Given the description of an element on the screen output the (x, y) to click on. 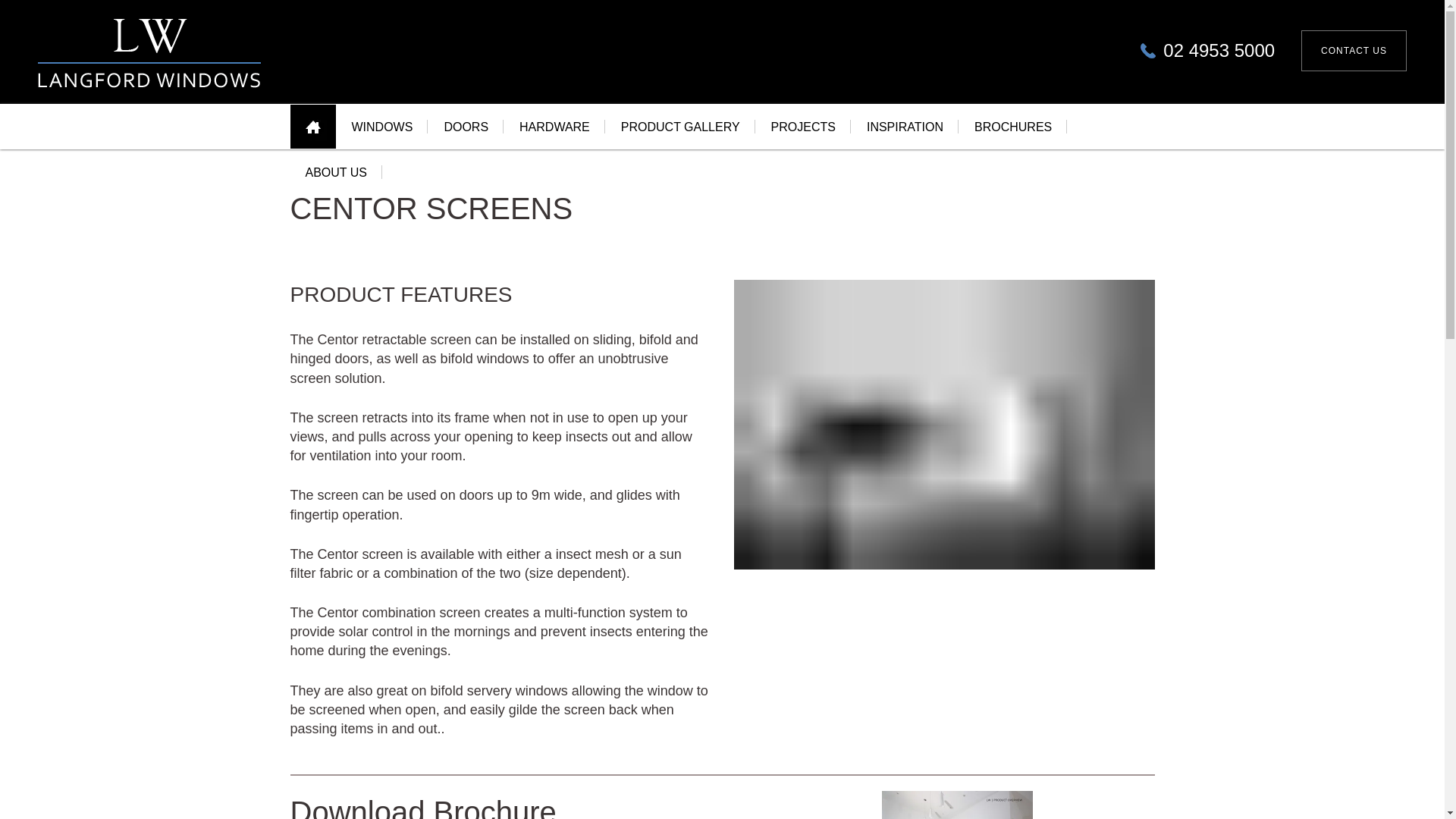
HARDWARE (554, 126)
02 4953 5000 (1207, 50)
DOORS (465, 126)
PRODUCT GALLERY (680, 126)
HOME (311, 126)
CONTACT US (1353, 50)
WINDOWS (382, 126)
